Given the description of an element on the screen output the (x, y) to click on. 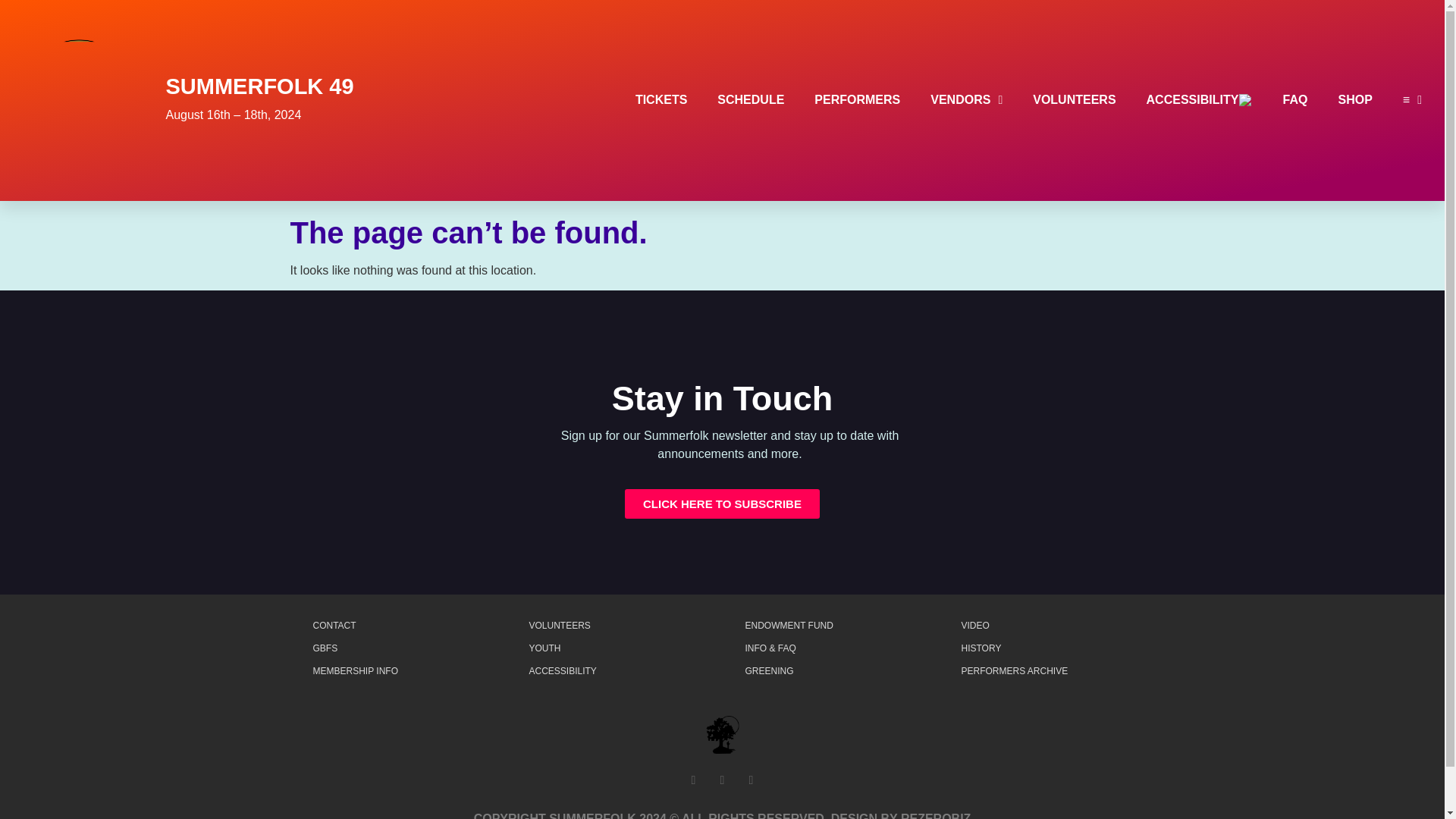
SHOP (1354, 99)
VENDORS (966, 99)
VOLUNTEERS (1074, 99)
PERFORMERS (857, 99)
SUMMERFOLK 49 (259, 86)
SCHEDULE (750, 99)
ACCESSIBILITY (1199, 99)
FAQ (1295, 99)
TICKETS (660, 99)
